Given the description of an element on the screen output the (x, y) to click on. 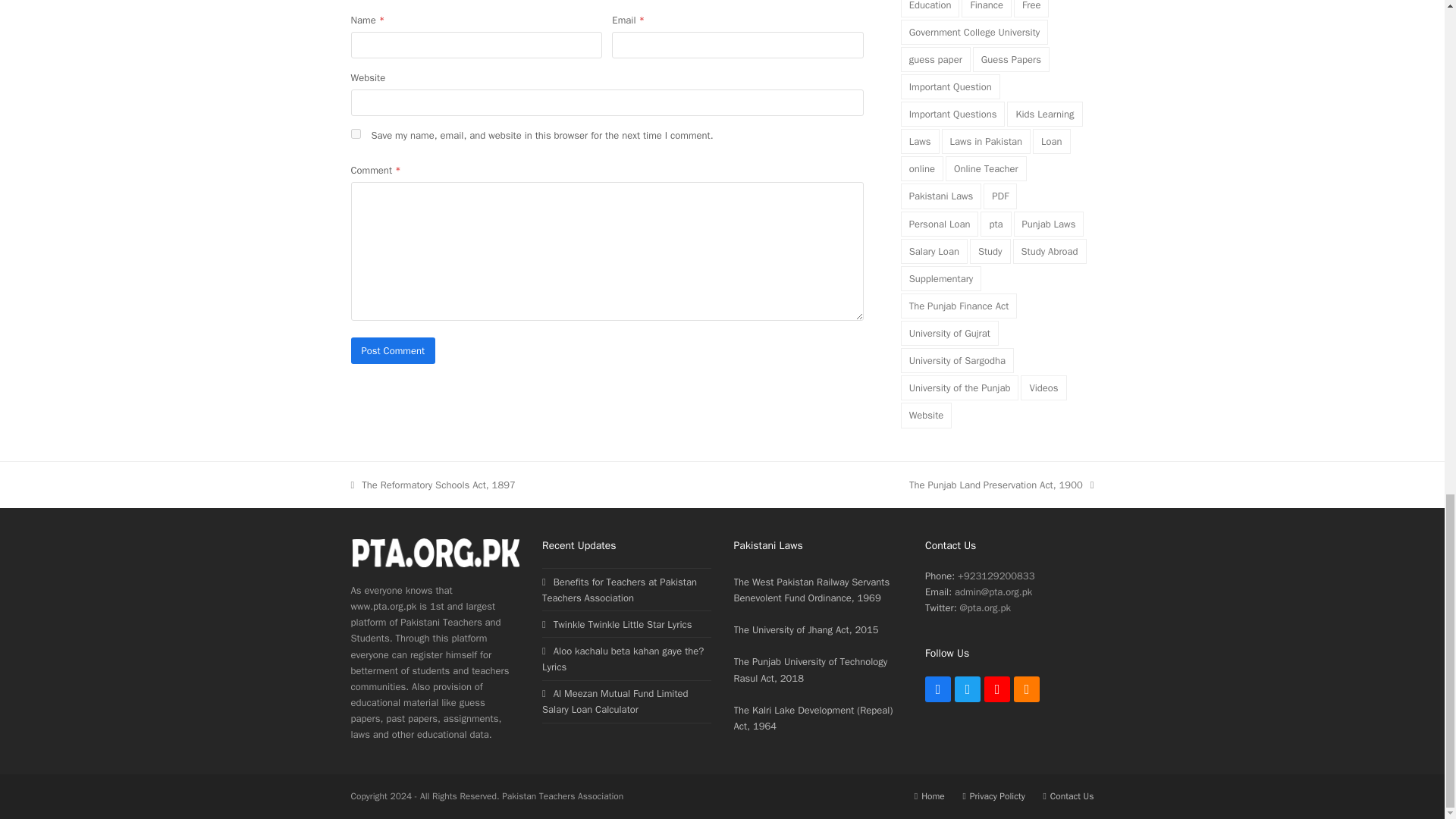
RSS (1026, 688)
Facebook (937, 688)
yes (354, 133)
Post Comment (392, 350)
YouTube (997, 688)
Twitter (967, 688)
